Given the description of an element on the screen output the (x, y) to click on. 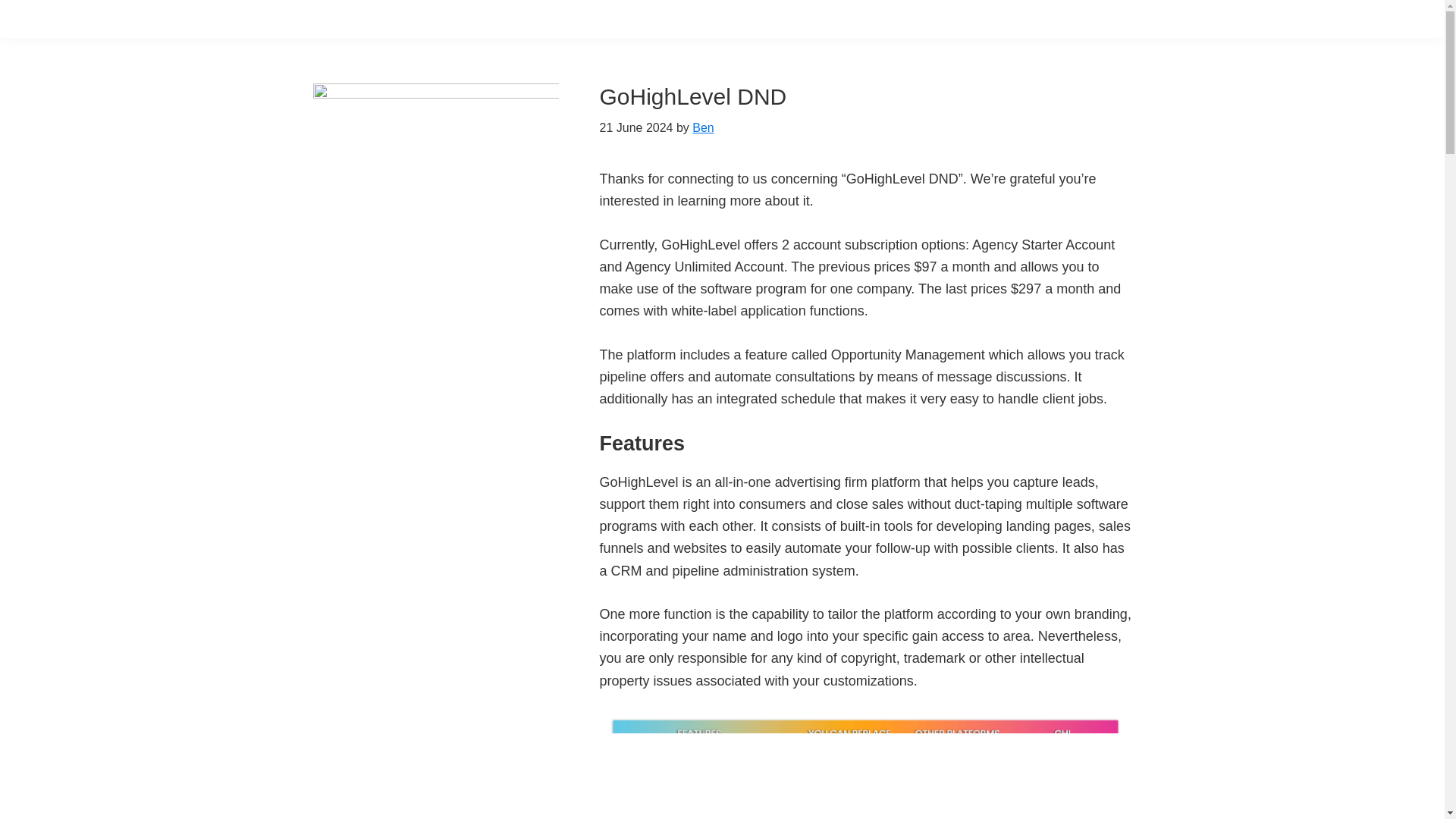
Ben (703, 127)
